Given the description of an element on the screen output the (x, y) to click on. 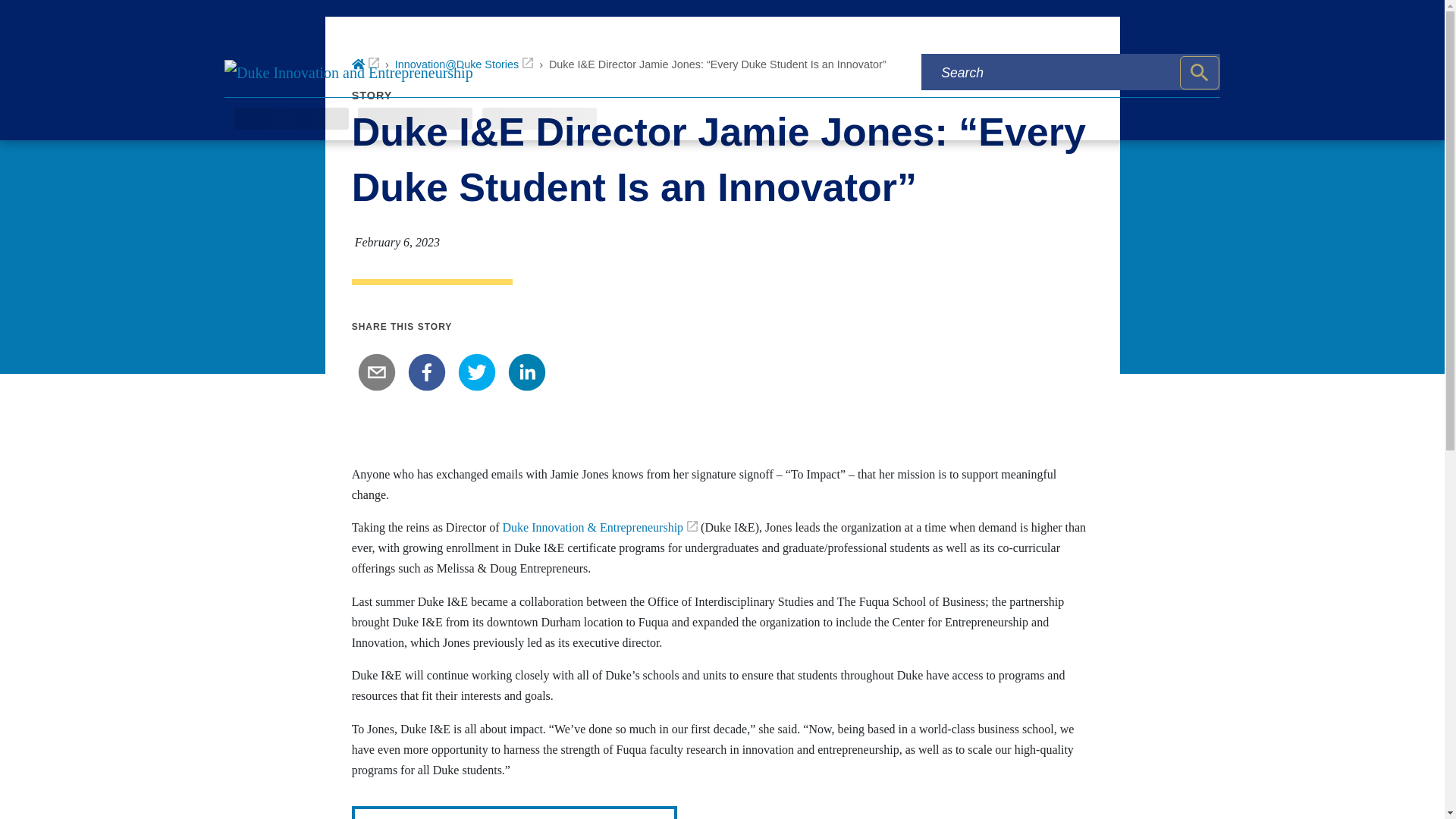
Welcome (599, 526)
Home (365, 64)
CONTINUE READING AT DUKE TODAY (515, 812)
